Given the description of an element on the screen output the (x, y) to click on. 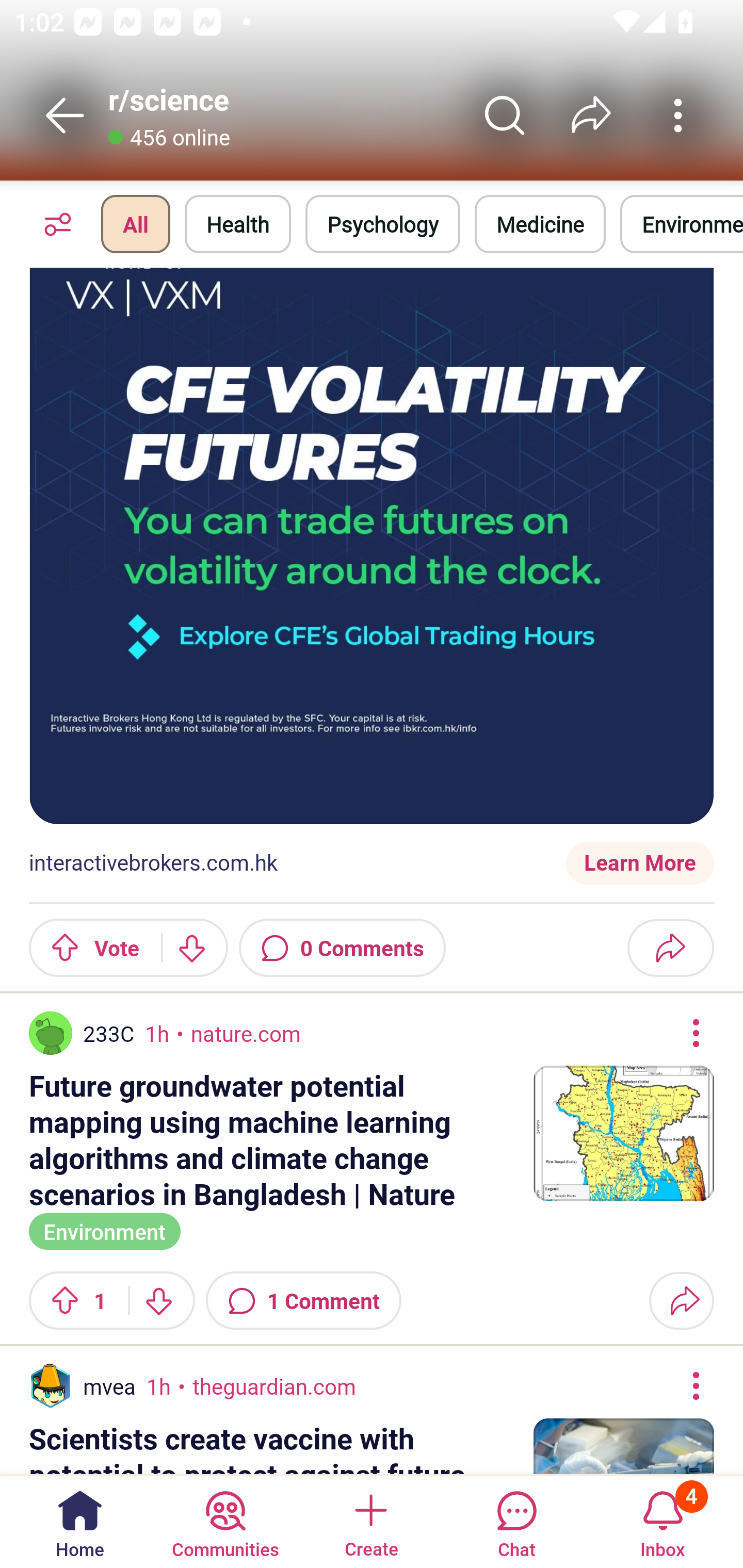
Back (64, 115)
Search r/﻿science (504, 115)
Share r/﻿science (591, 115)
More community actions (677, 115)
Feed Options (53, 224)
All (135, 224)
Health (238, 224)
Psychology (382, 224)
Medicine (539, 224)
Environment (681, 224)
Environment (104, 1229)
Home (80, 1520)
Communities (225, 1520)
Create a post Create (370, 1520)
Chat (516, 1520)
Inbox, has 4 notifications 4 Inbox (662, 1520)
